Given the description of an element on the screen output the (x, y) to click on. 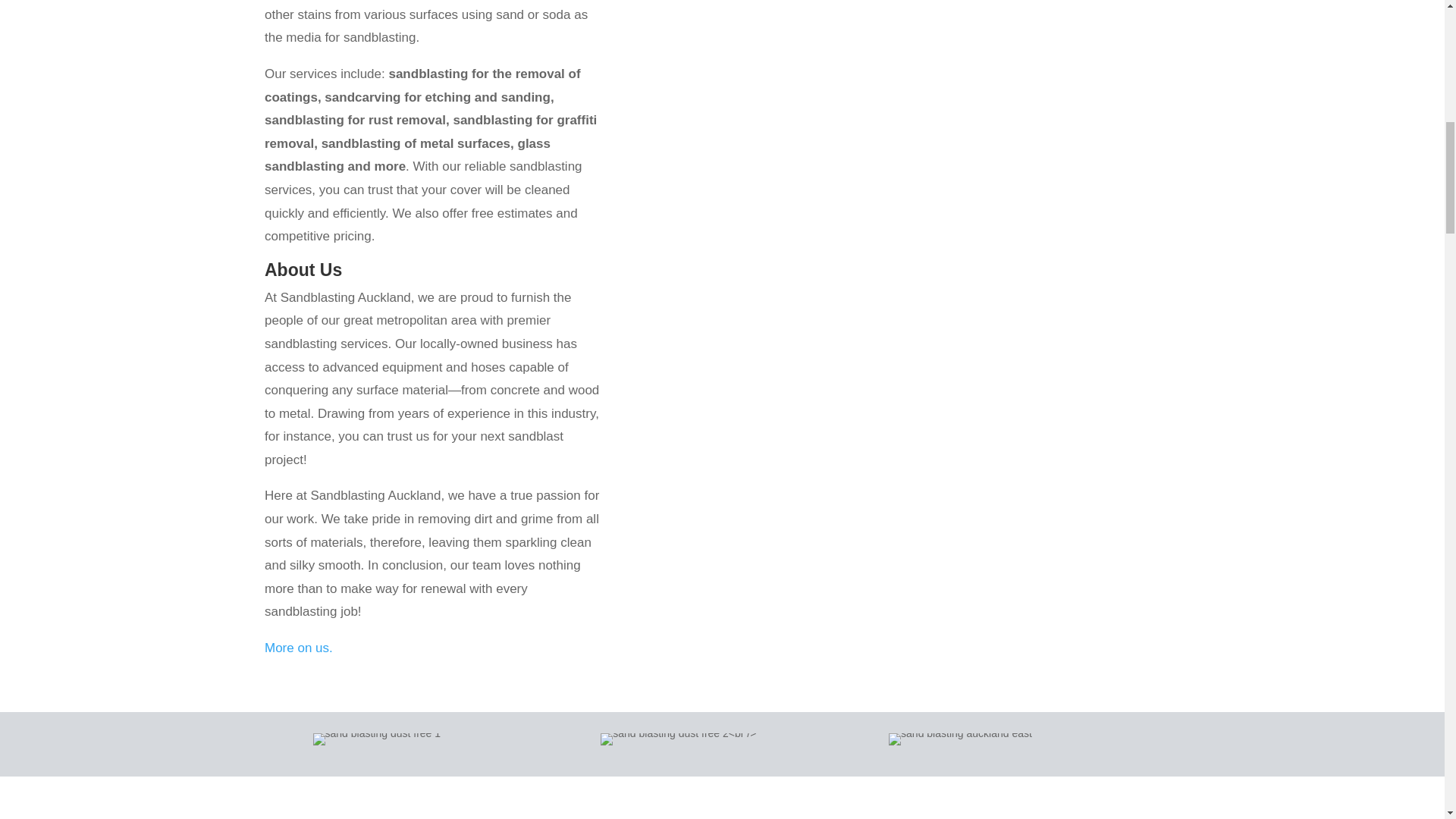
Sandblasting-Auckland-5 (960, 739)
Sandblasting-Auckland-4 (677, 739)
Sandblasting-Auckland-3 (377, 739)
More on us. (298, 647)
